Given the description of an element on the screen output the (x, y) to click on. 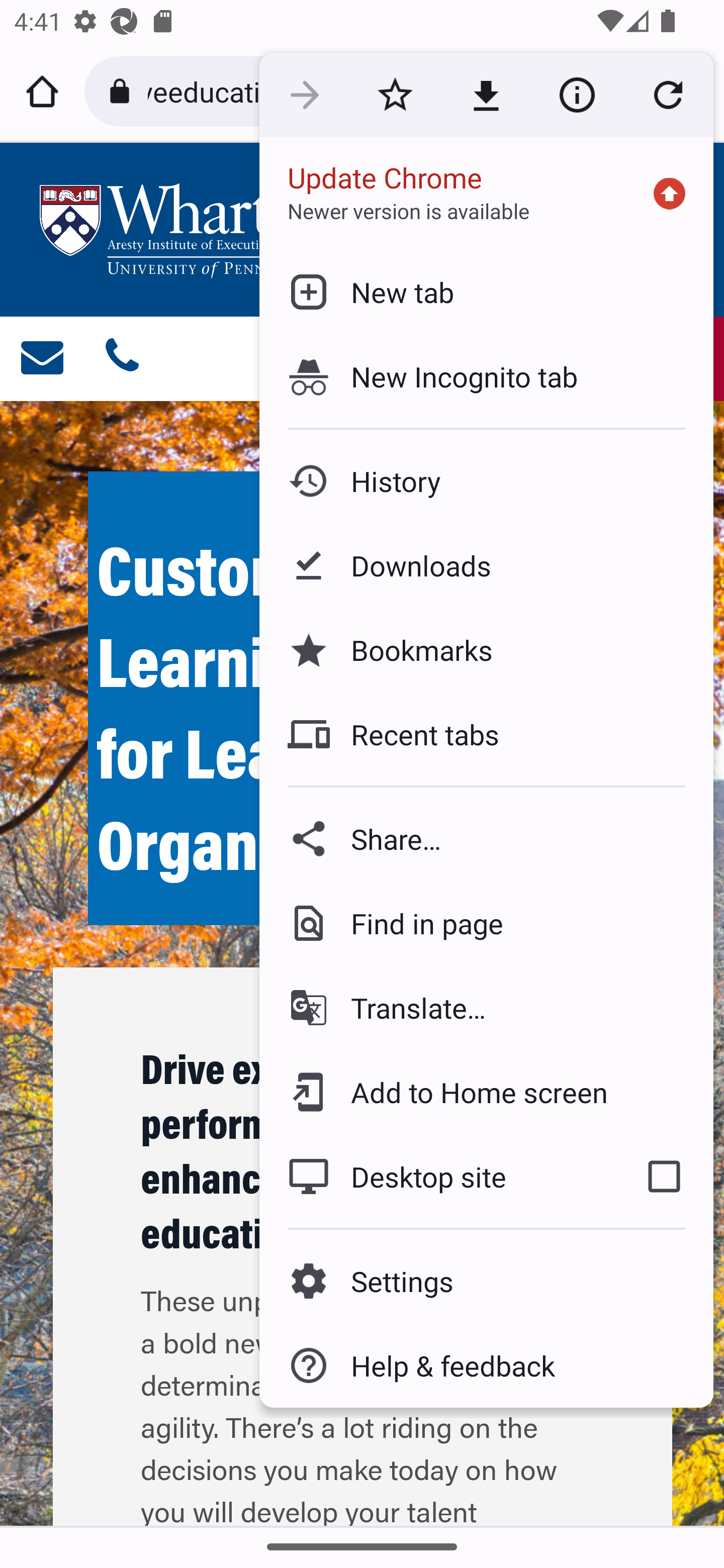
Forward (304, 95)
Bookmark (394, 95)
Download (485, 95)
Page info (576, 95)
Refresh (667, 95)
New tab (486, 291)
New Incognito tab (486, 375)
History (486, 481)
Downloads (486, 565)
Bookmarks (486, 649)
Recent tabs (486, 733)
Share… (486, 838)
Find in page (486, 923)
Translate… (486, 1007)
Add to Home screen (486, 1091)
Desktop site Turn on Request desktop site (436, 1175)
Settings (486, 1280)
Help & feedback (486, 1365)
